Given the description of an element on the screen output the (x, y) to click on. 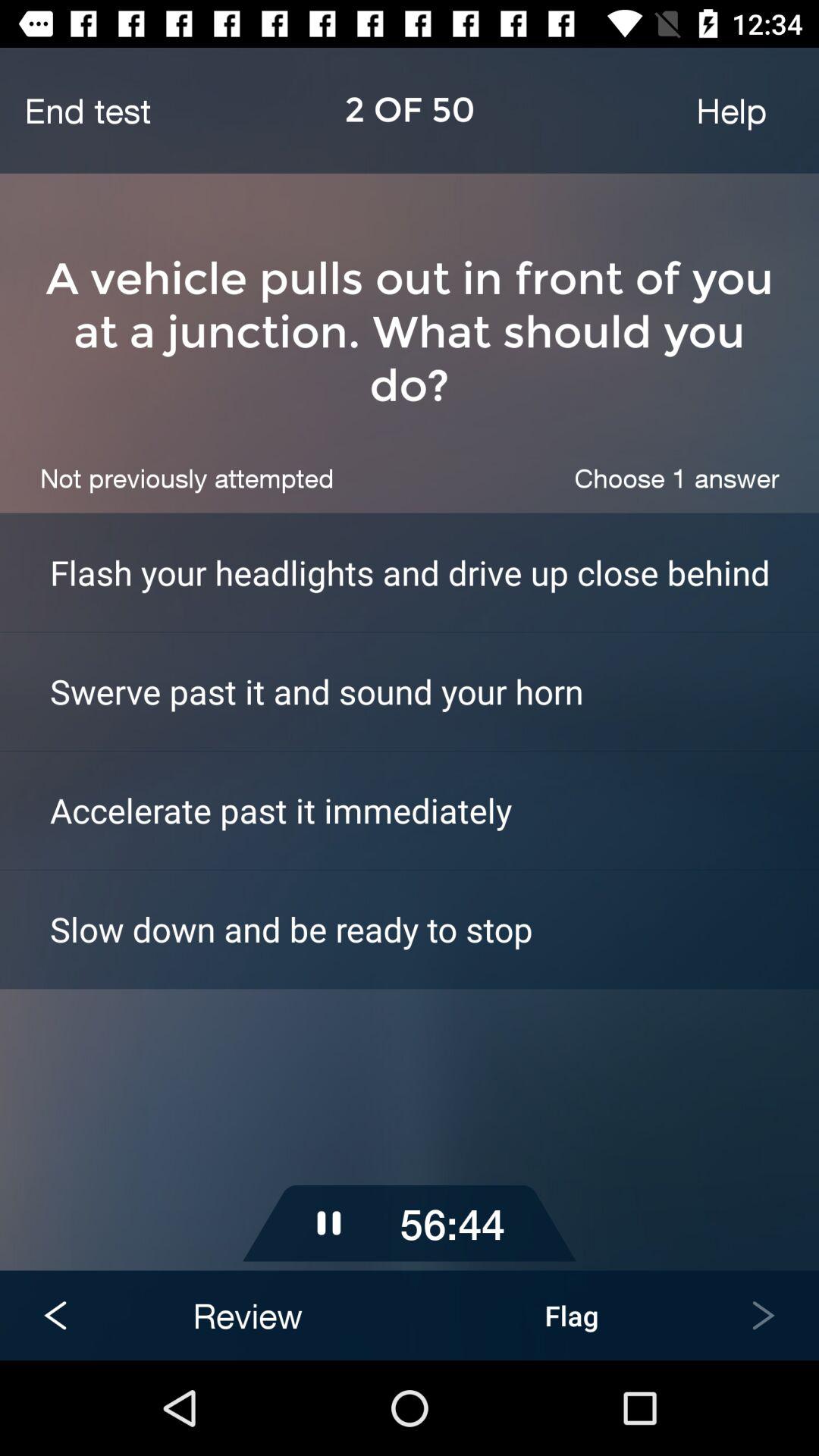
launch the item below a vehicle pulls (676, 477)
